Given the description of an element on the screen output the (x, y) to click on. 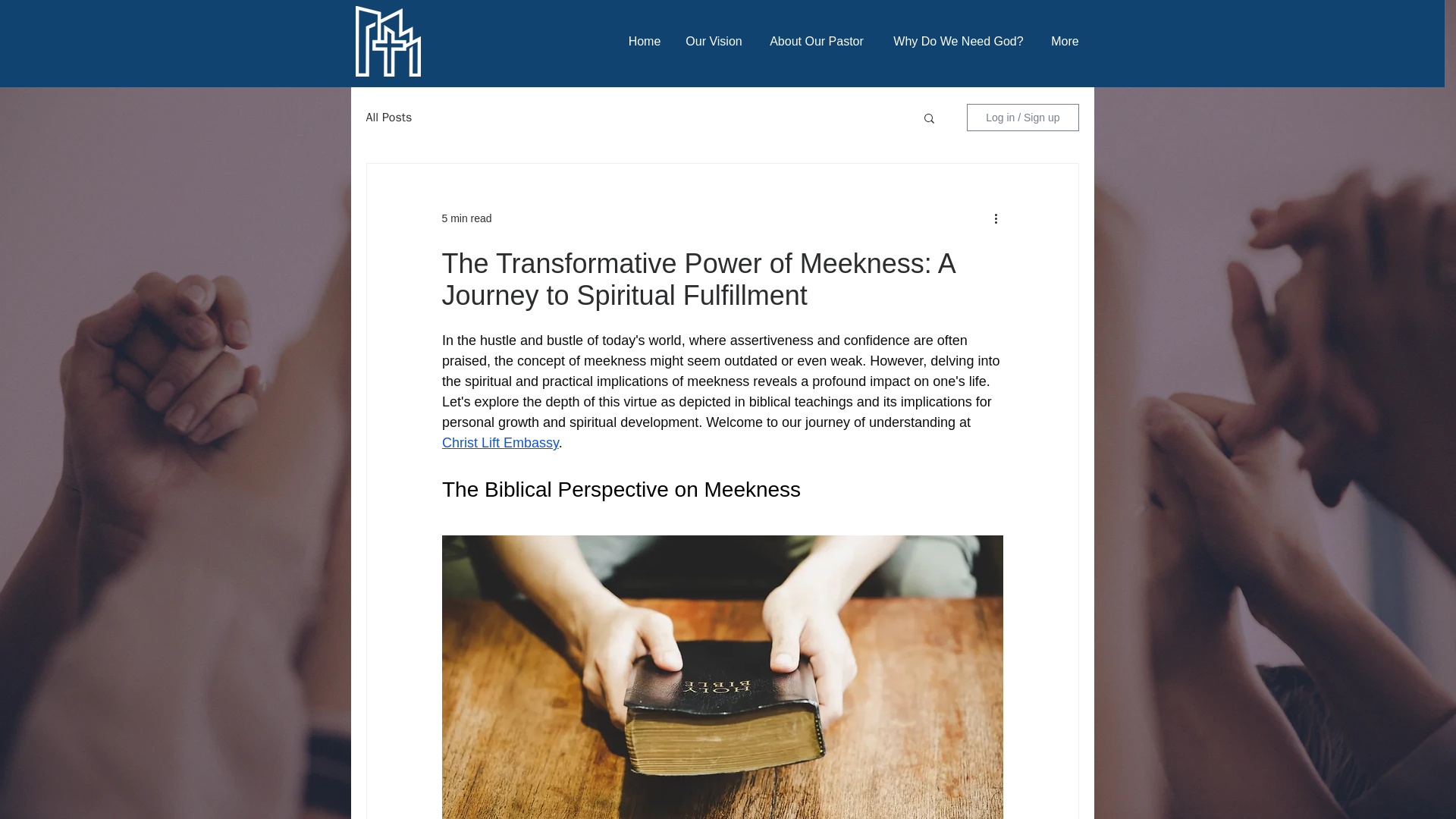
Our Vision (713, 41)
5 min read (466, 218)
Why Do We Need God? (957, 41)
Home (643, 41)
All Posts (388, 116)
About Our Pastor (817, 41)
Christ Lift Embassy (499, 442)
